Given the description of an element on the screen output the (x, y) to click on. 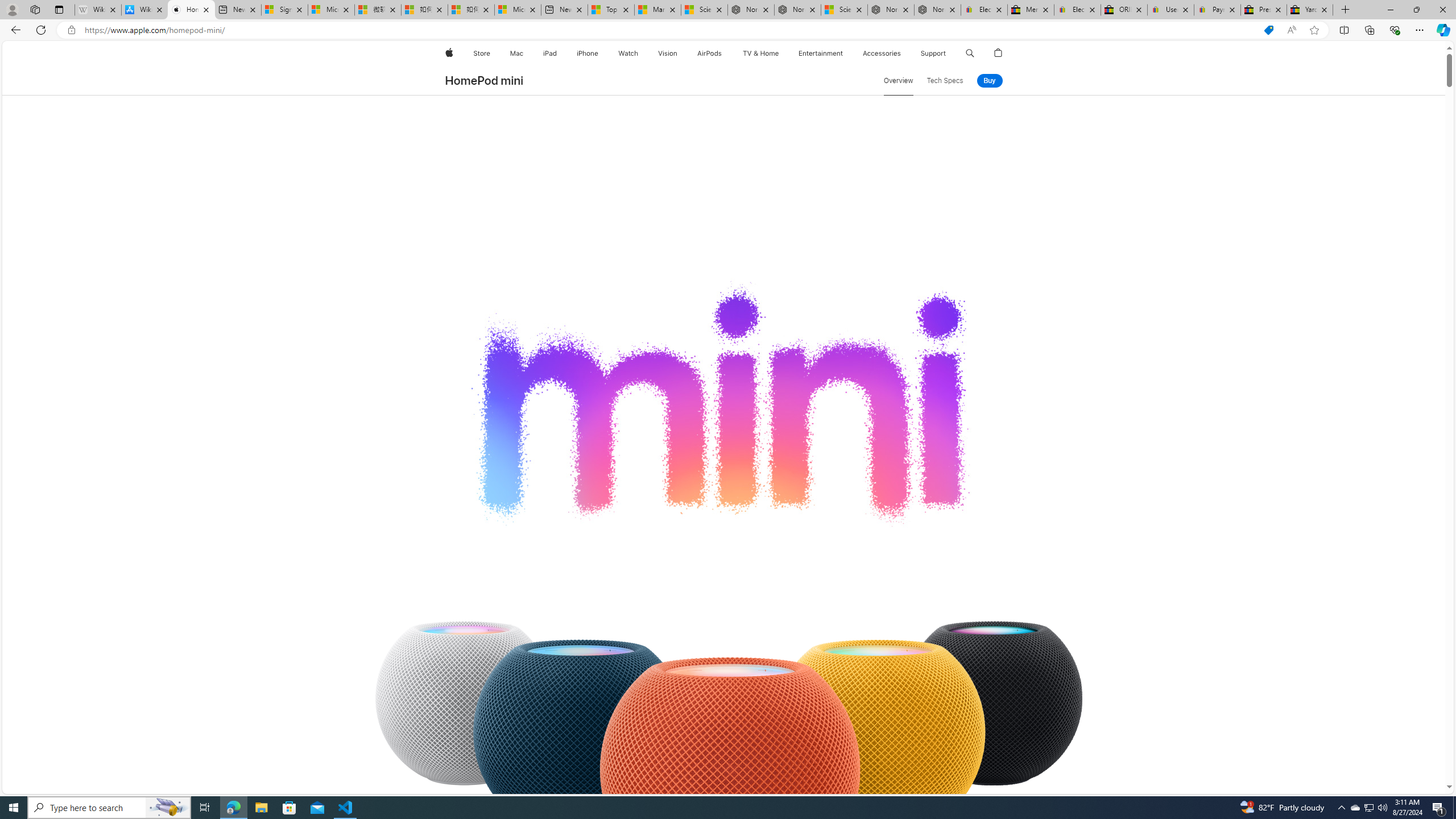
AirPods menu (723, 53)
Sign in to your Microsoft account (284, 9)
Apple (448, 53)
Tech Specs (944, 80)
Microsoft Services Agreement (330, 9)
Shopping in Microsoft Edge (1268, 29)
Accessories (881, 53)
iPad menu (557, 53)
Watch menu (640, 53)
Nordace - Summer Adventures 2024 (890, 9)
Store (481, 53)
Marine life - MSN (656, 9)
